Given the description of an element on the screen output the (x, y) to click on. 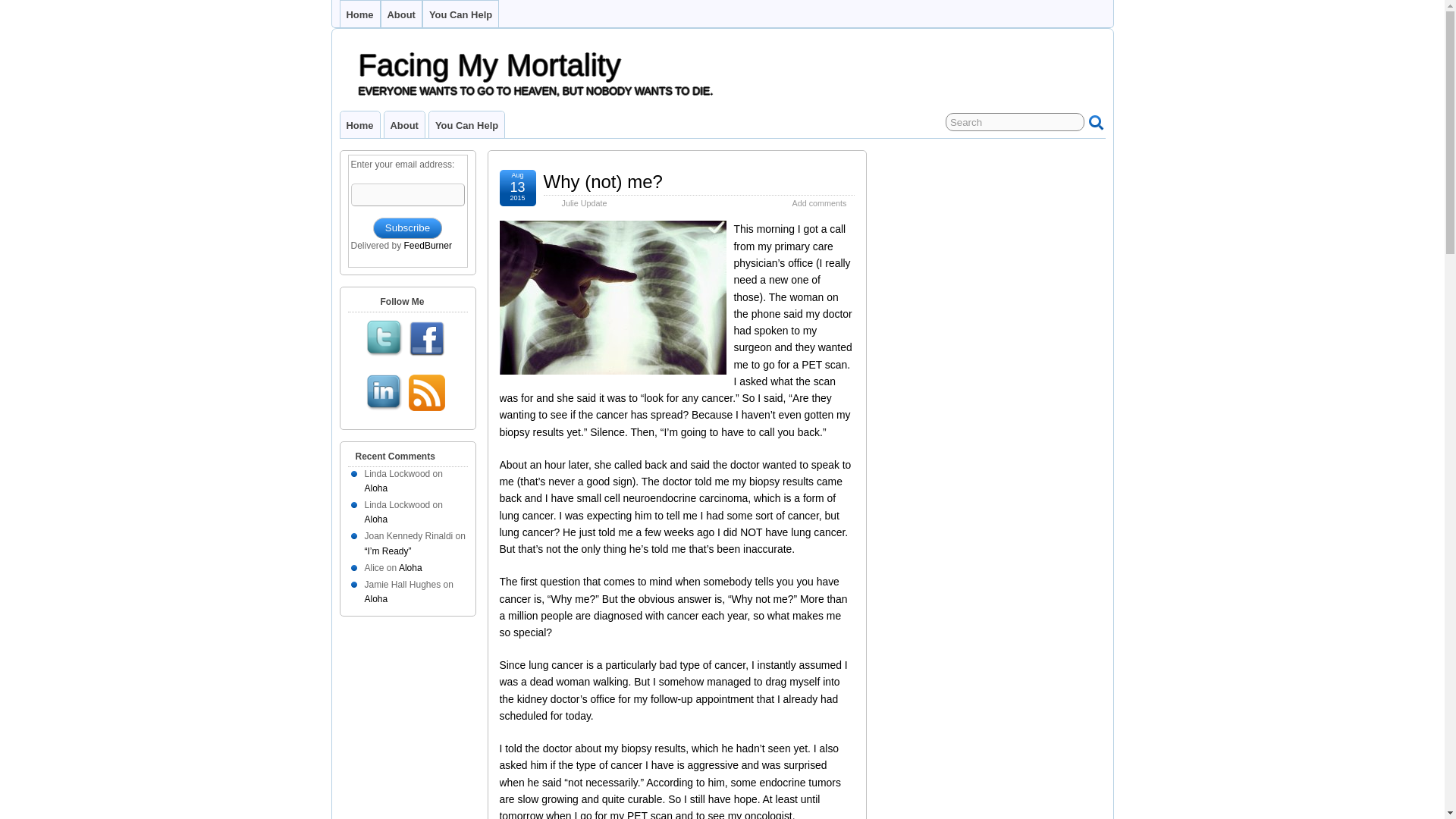
Facebook (427, 339)
Subscribe (407, 228)
Home (358, 13)
Search (1014, 122)
LinkedIn (384, 394)
Facing My Mortality (489, 64)
Home (358, 124)
You Can Help (466, 124)
Search (1014, 122)
FeedBurner (427, 245)
About (403, 124)
RSS (427, 394)
Subscribe (407, 228)
Aloha (375, 519)
Aloha (375, 488)
